Given the description of an element on the screen output the (x, y) to click on. 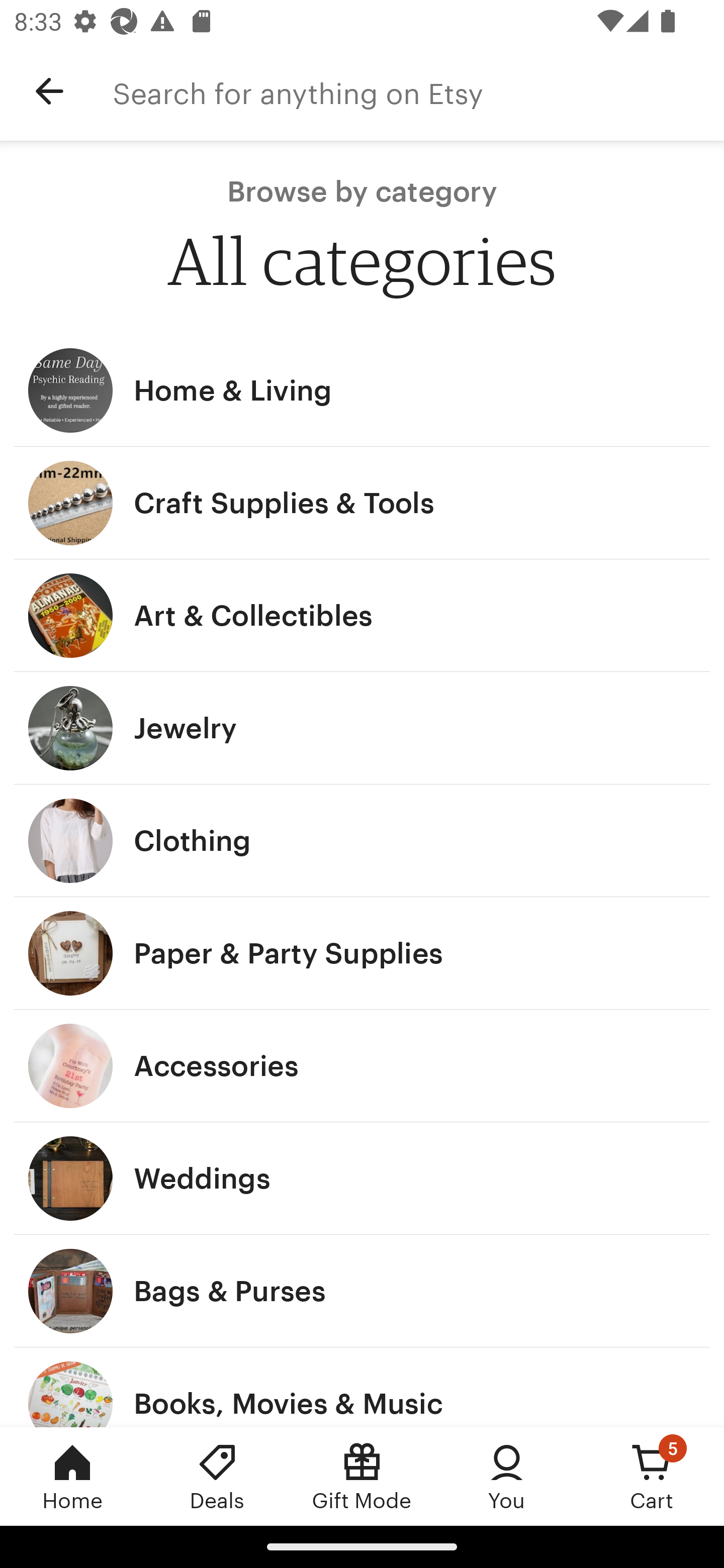
Navigate up (49, 91)
Search for anything on Etsy (418, 91)
Home & Living (361, 389)
Craft Supplies & Tools (361, 502)
Art & Collectibles (361, 615)
Jewelry (361, 728)
Clothing (361, 840)
Paper & Party Supplies (361, 952)
Accessories (361, 1065)
Weddings (361, 1178)
Bags & Purses (361, 1290)
Books, Movies & Music (361, 1386)
Deals (216, 1475)
Gift Mode (361, 1475)
You (506, 1475)
Cart, 5 new notifications Cart (651, 1475)
